Given the description of an element on the screen output the (x, y) to click on. 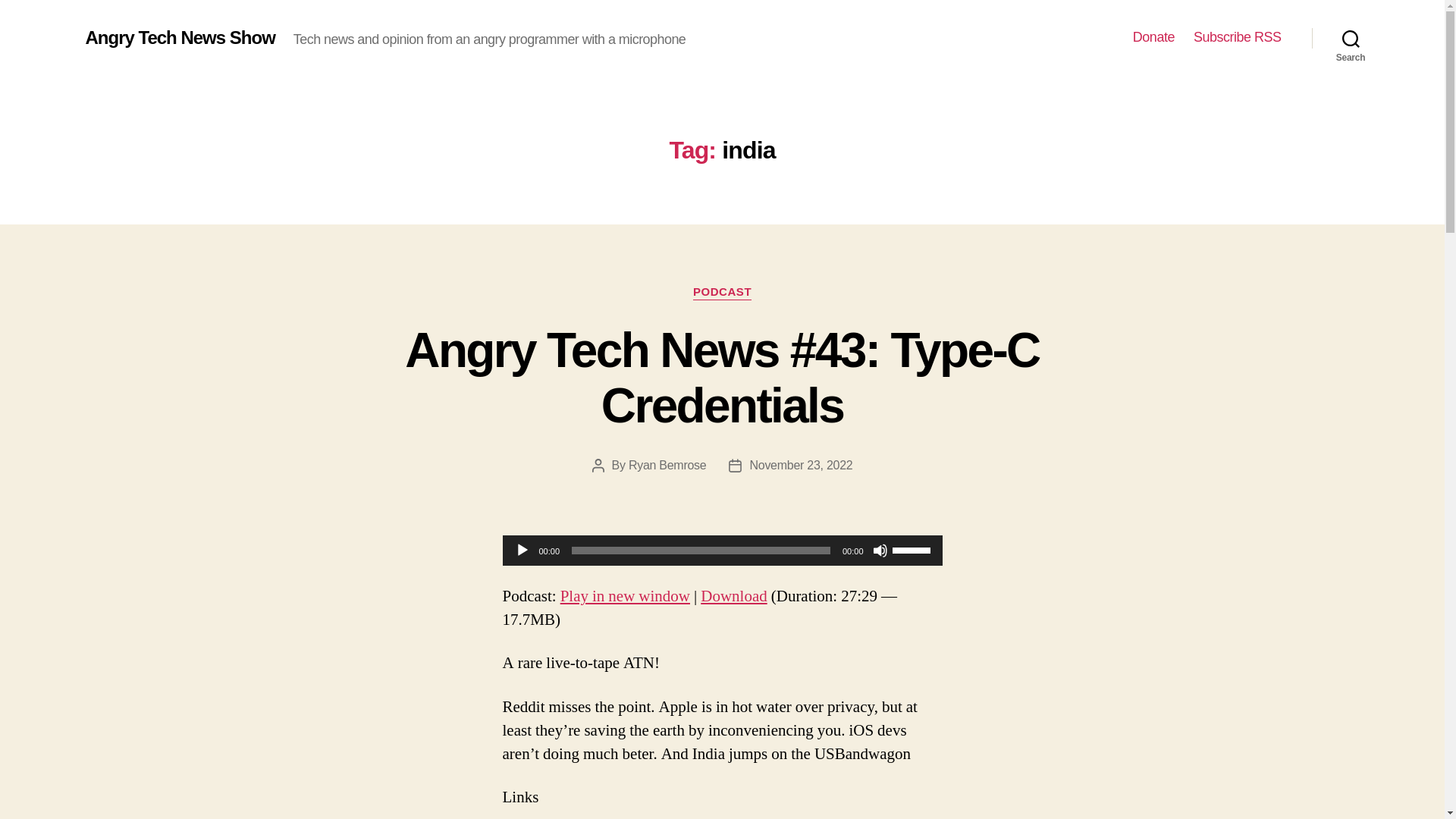
Mute (879, 549)
November 23, 2022 (800, 464)
Search (1350, 37)
Download (733, 596)
Play in new window (625, 596)
Subscribe RSS (1237, 37)
Play (521, 549)
PODCAST (722, 292)
Angry Tech News Show (179, 37)
Donate (1153, 37)
Play in new window (625, 596)
Download (733, 596)
Ryan Bemrose (667, 464)
